Given the description of an element on the screen output the (x, y) to click on. 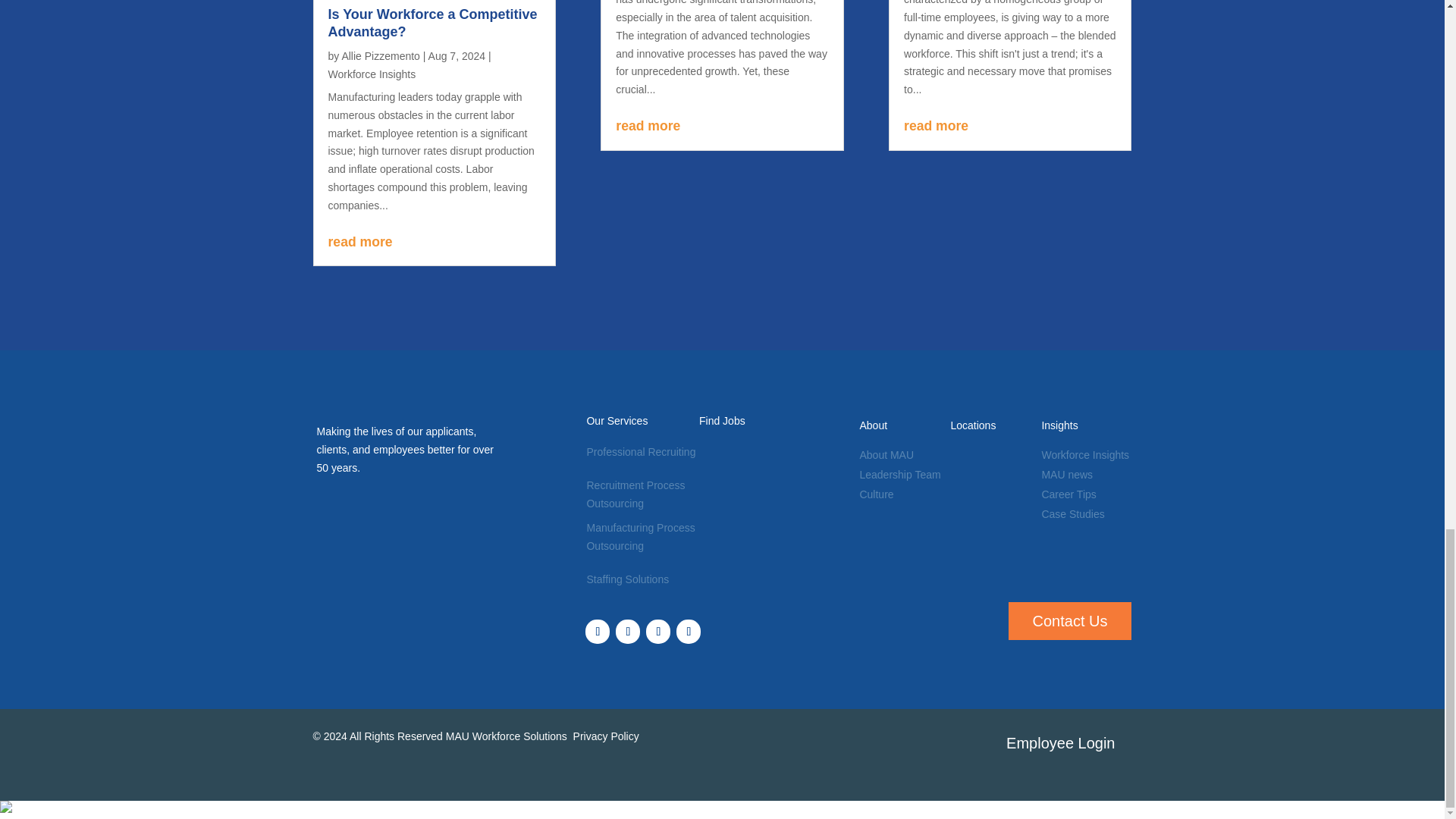
Allie Pizzemento (380, 55)
read more (433, 242)
Follow on Instagram (657, 631)
Follow on Youtube (688, 631)
Follow on LinkedIn (627, 631)
Posts by Allie Pizzemento (380, 55)
Workforce Insights (370, 73)
Is Your Workforce a Competitive Advantage? (432, 22)
read more (721, 126)
Follow on Facebook (597, 631)
